Given the description of an element on the screen output the (x, y) to click on. 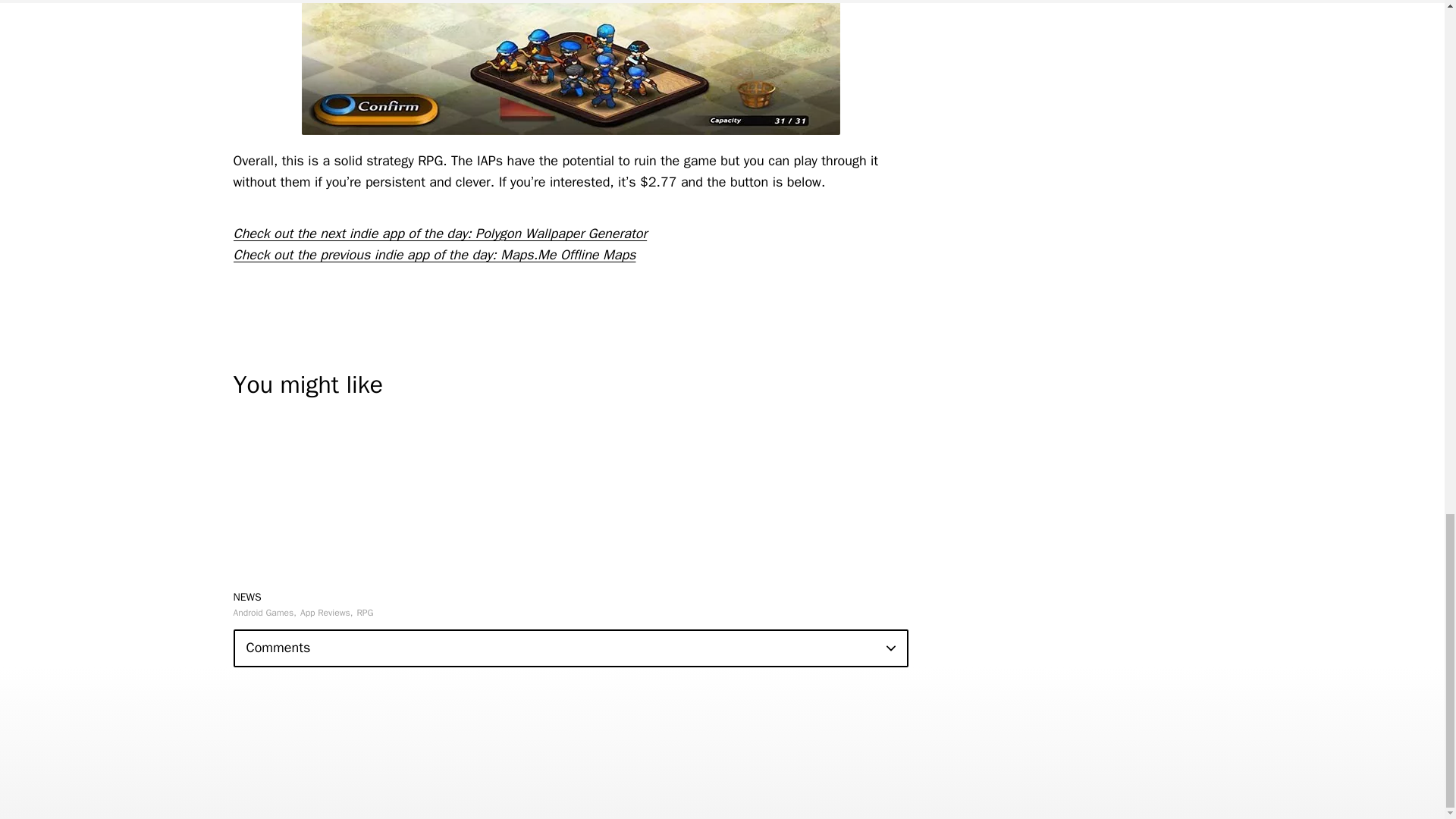
Comments (570, 648)
Rebirth of Fortune 2 screenshot (570, 67)
Android Games (264, 612)
App Reviews (326, 612)
NEWS (247, 596)
RPG (364, 612)
